Given the description of an element on the screen output the (x, y) to click on. 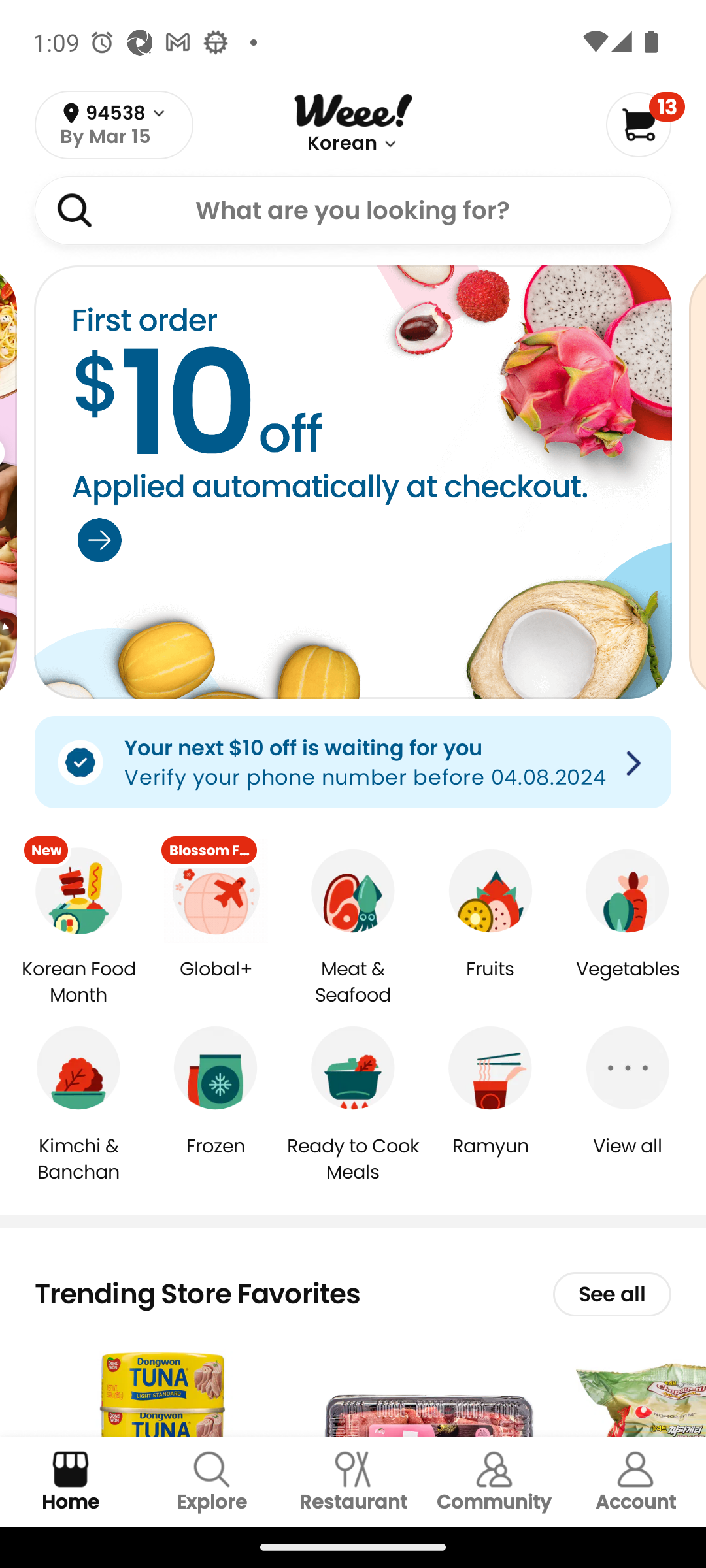
94538 By Mar 15 (113, 124)
13 (644, 124)
Korean (342, 143)
What are you looking for? (352, 209)
Korean Food Month (77, 982)
Global+ (215, 982)
Meat & Seafood (352, 982)
Fruits (490, 982)
Vegetables (627, 982)
Kimchi & Banchan (77, 1158)
Frozen (215, 1159)
Ready to Cook Meals (352, 1158)
Ramyun (490, 1159)
View all (627, 1159)
Home (70, 1482)
Explore (211, 1482)
Restaurant (352, 1482)
Community (493, 1482)
Account (635, 1482)
